Given the description of an element on the screen output the (x, y) to click on. 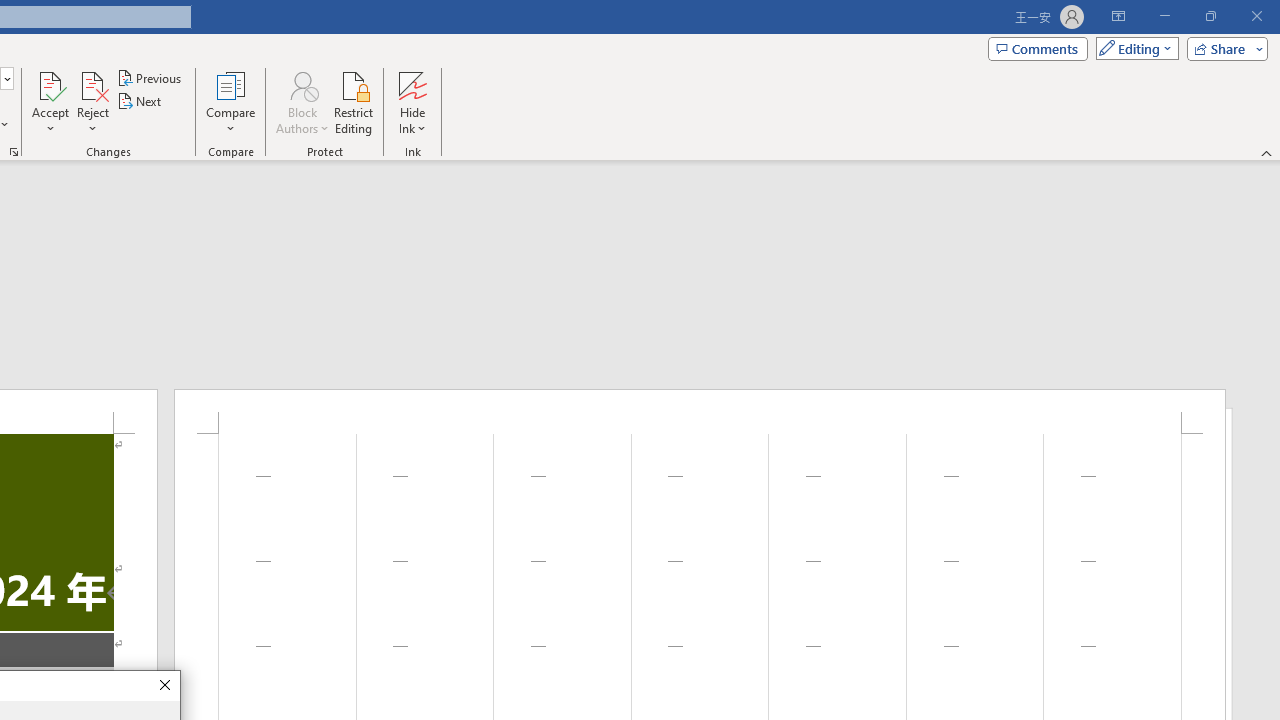
Block Authors (302, 84)
Reject (92, 102)
Previous (150, 78)
Next (140, 101)
Block Authors (302, 102)
Accept and Move to Next (50, 84)
Compare (230, 102)
Change Tracking Options... (13, 151)
